Given the description of an element on the screen output the (x, y) to click on. 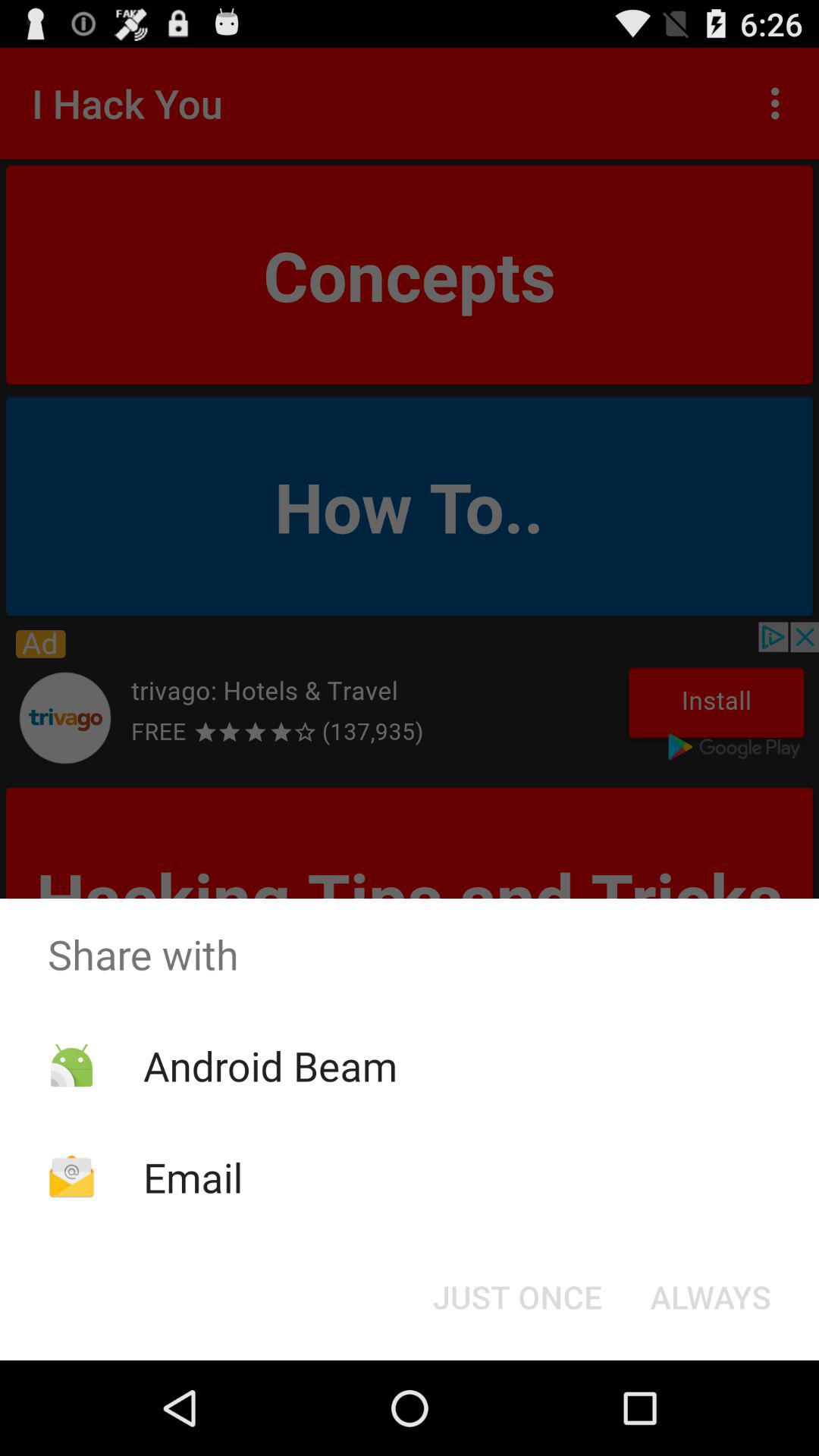
select the item next to the always button (517, 1296)
